Given the description of an element on the screen output the (x, y) to click on. 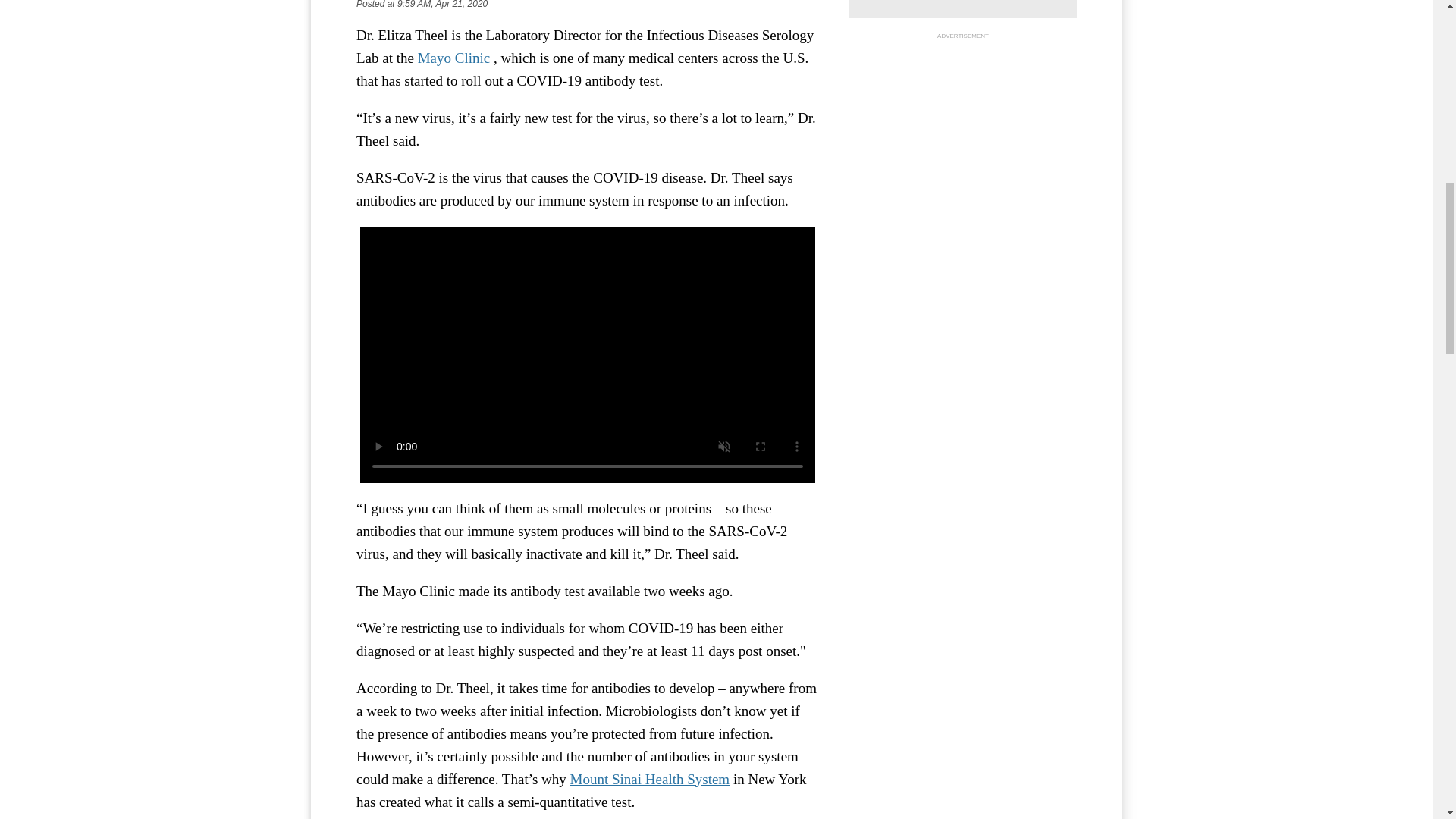
3rd party ad content (962, 137)
